Given the description of an element on the screen output the (x, y) to click on. 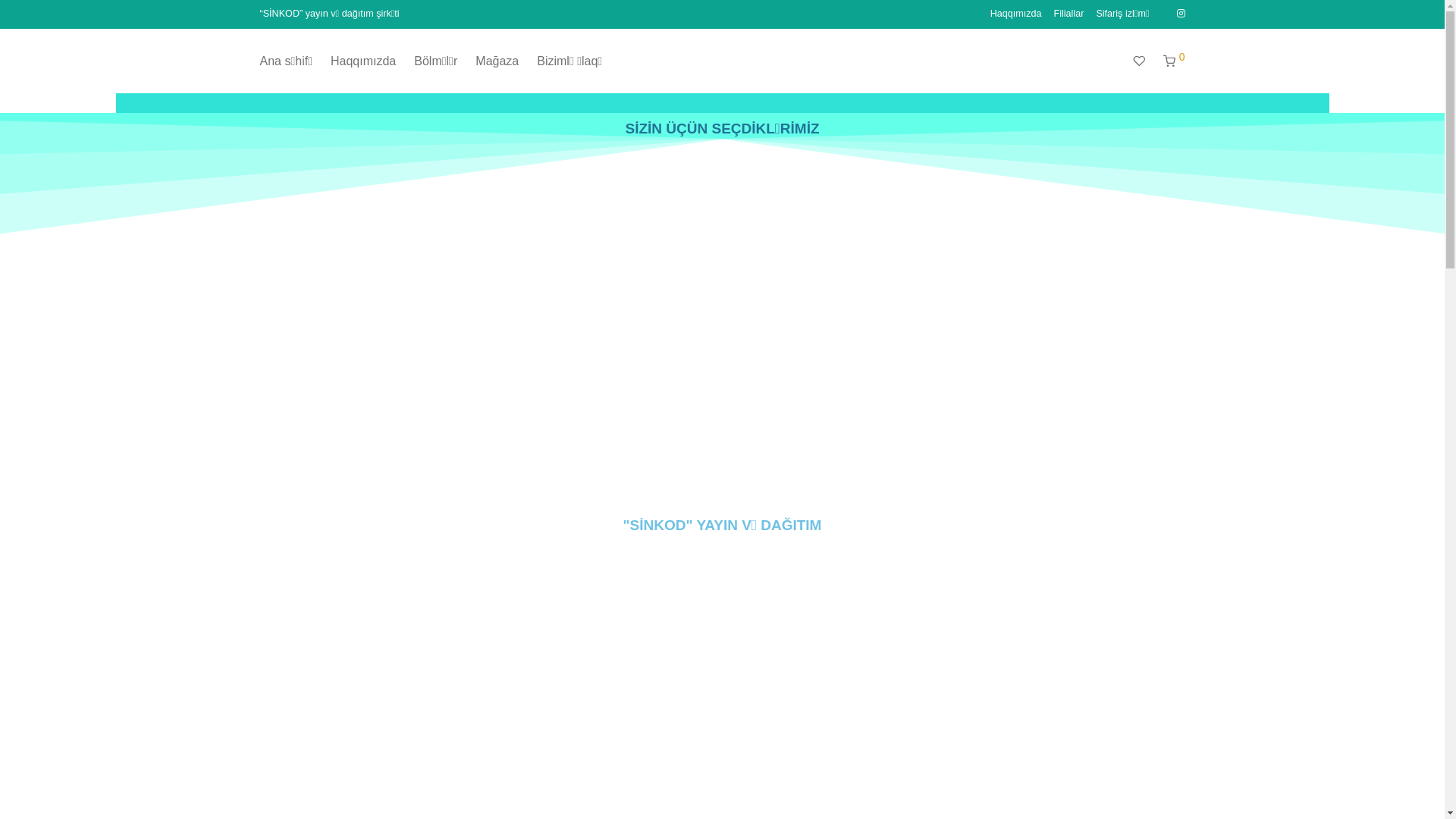
Filiallar Element type: text (1069, 13)
0 Element type: text (1173, 61)
Instagram Element type: hover (1180, 13)
